Given the description of an element on the screen output the (x, y) to click on. 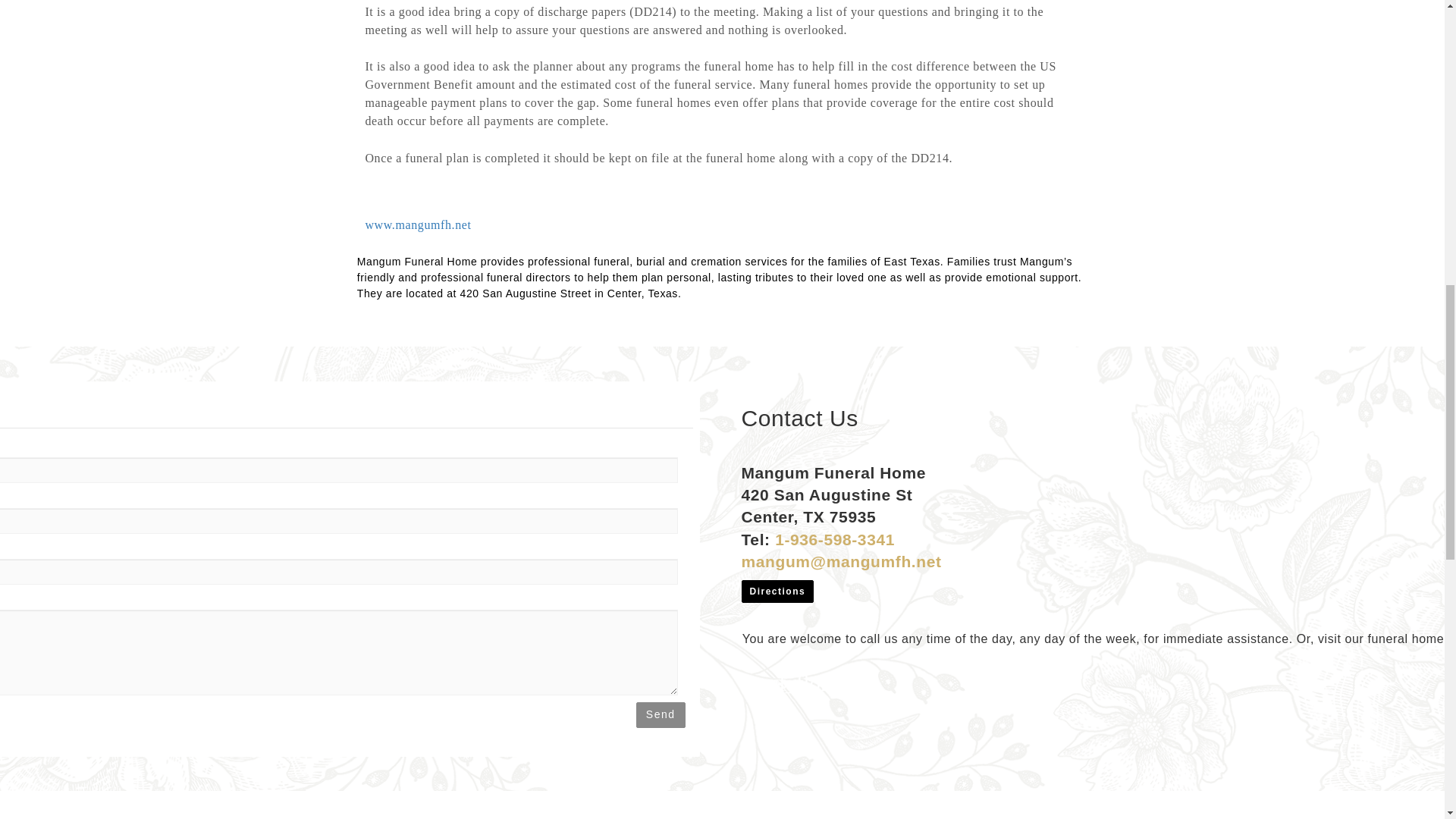
Contact Us (778, 680)
Send Flowers (750, 680)
Send (660, 714)
Directions (777, 590)
Directions (777, 590)
www.mangumfh.net (417, 224)
1-936-598-3341 (834, 538)
